Given the description of an element on the screen output the (x, y) to click on. 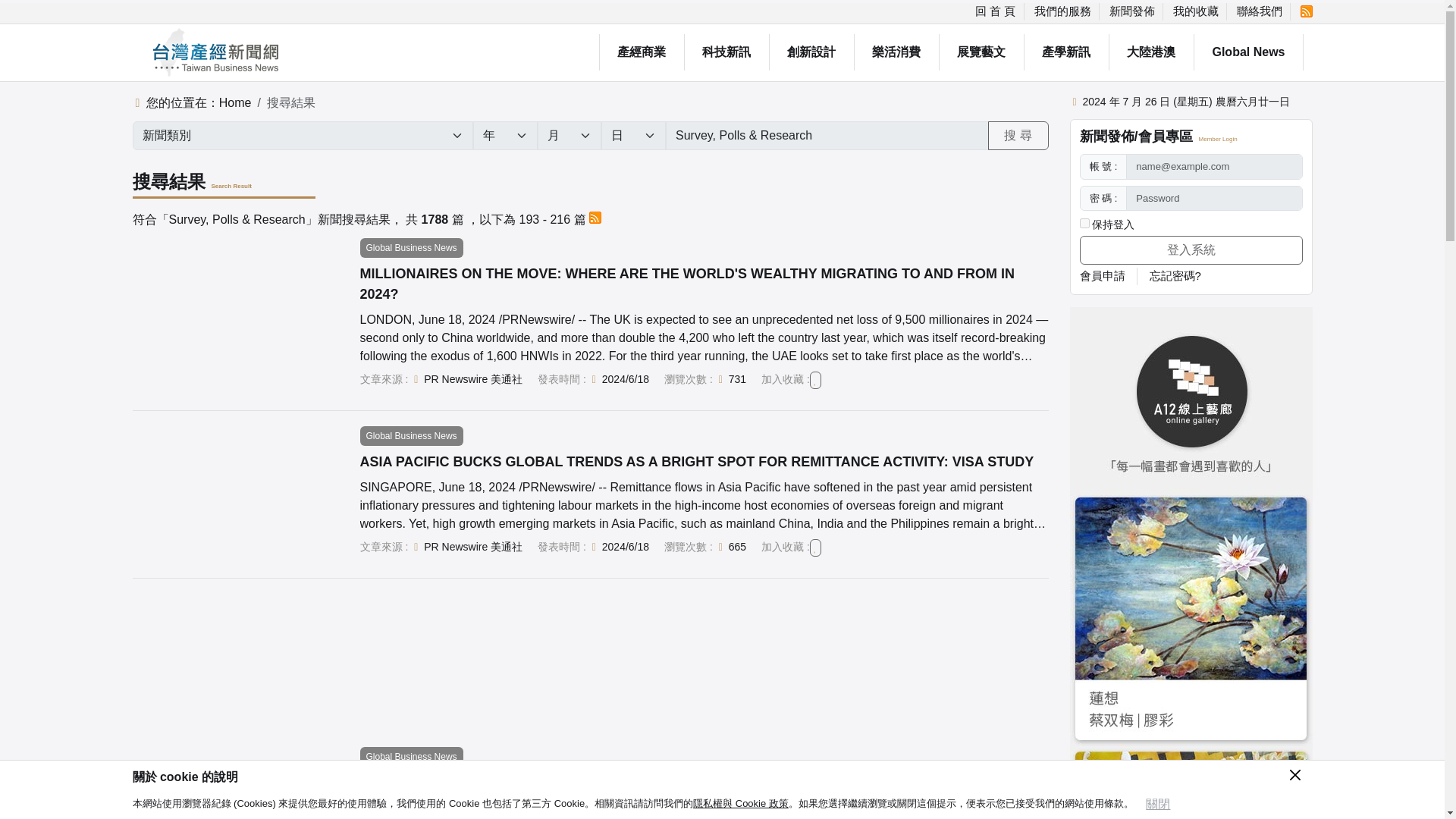
Global Business News (411, 435)
Global News (1248, 52)
Home (235, 101)
true (1084, 223)
Advertisement (587, 662)
Global Business News (411, 247)
